Given the description of an element on the screen output the (x, y) to click on. 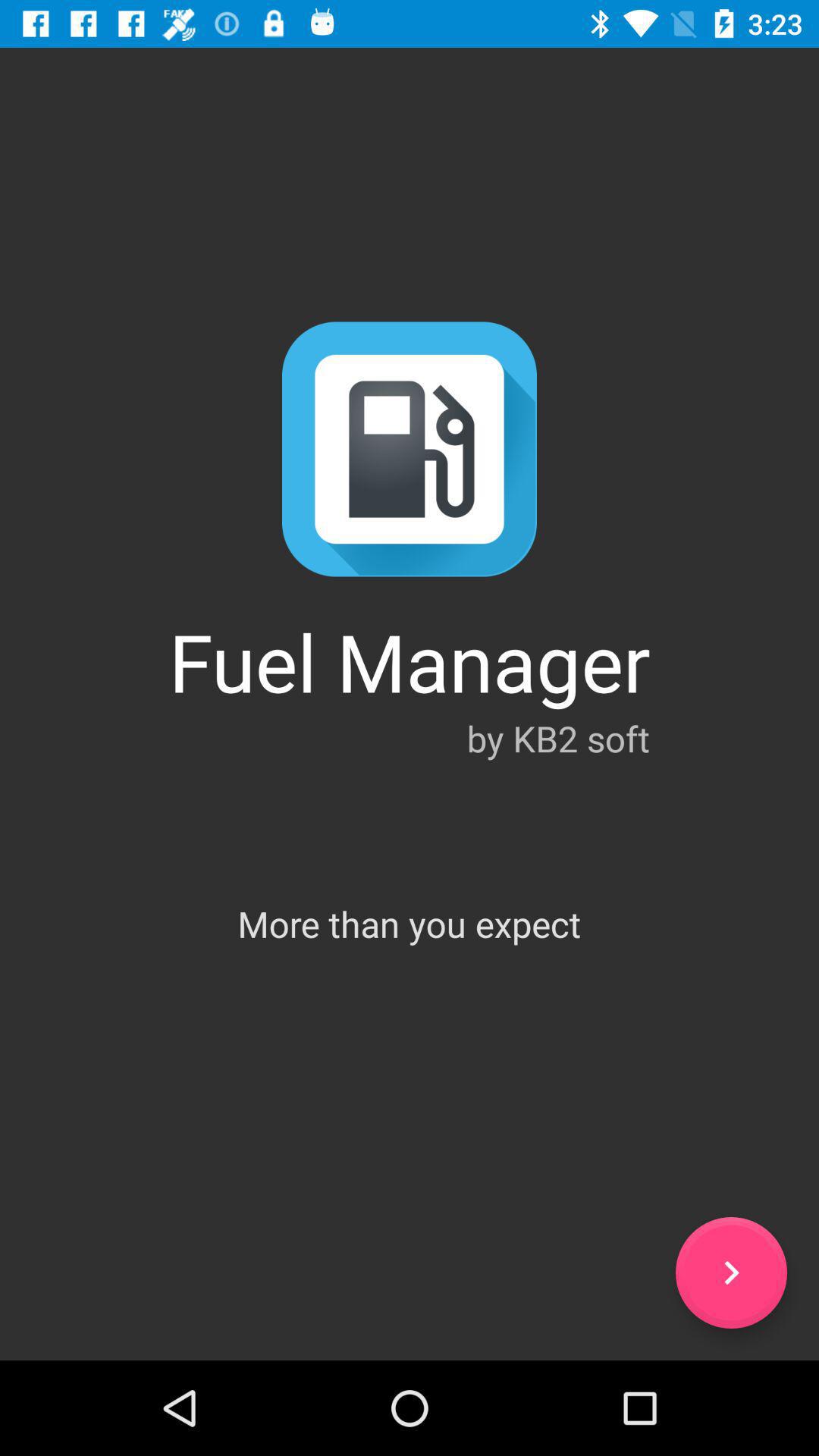
go to next (731, 1272)
